Given the description of an element on the screen output the (x, y) to click on. 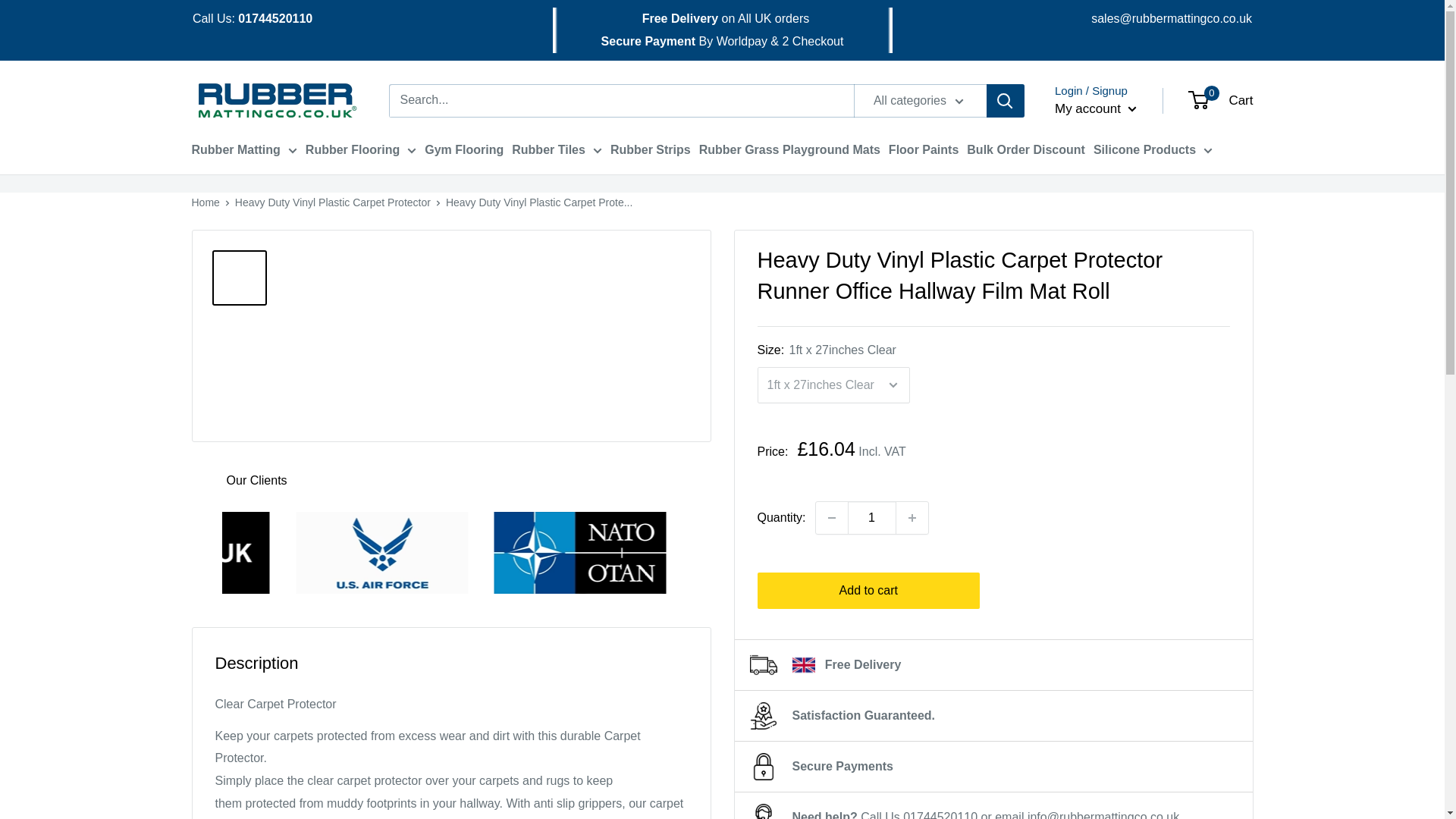
1 (871, 517)
Decrease quantity by 1 (831, 517)
Increase quantity by 1 (912, 517)
01744520110 (275, 18)
